Given the description of an element on the screen output the (x, y) to click on. 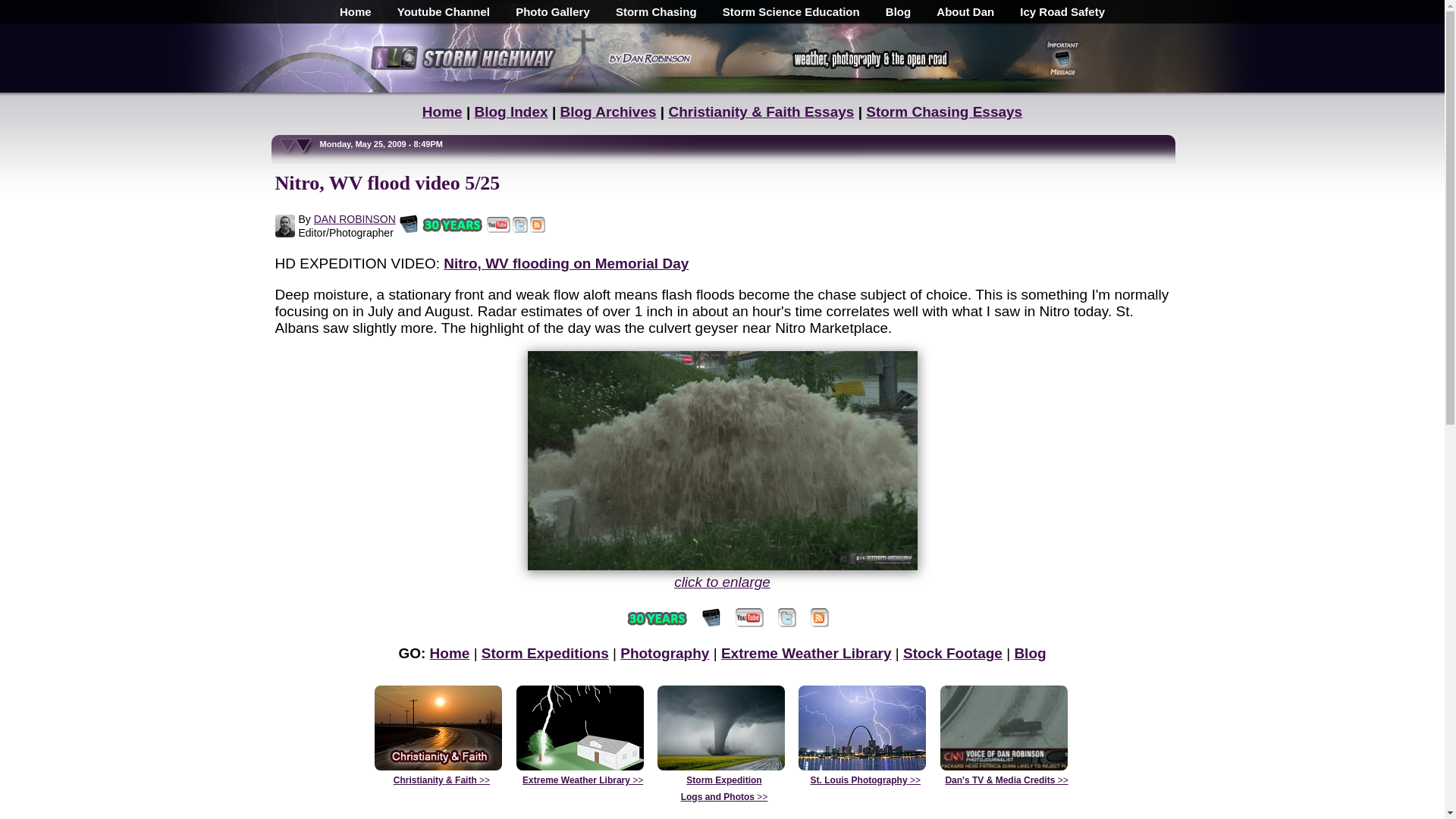
Home (355, 11)
Nitro, WV flooding on Memorial Day (566, 263)
Home (449, 652)
Blog Archives (607, 111)
Youtube Channel (442, 11)
DAN ROBINSON (355, 218)
Blog (898, 11)
Icy Road Safety (1062, 11)
Storm Expeditions (544, 652)
Blog Index (510, 111)
